Given the description of an element on the screen output the (x, y) to click on. 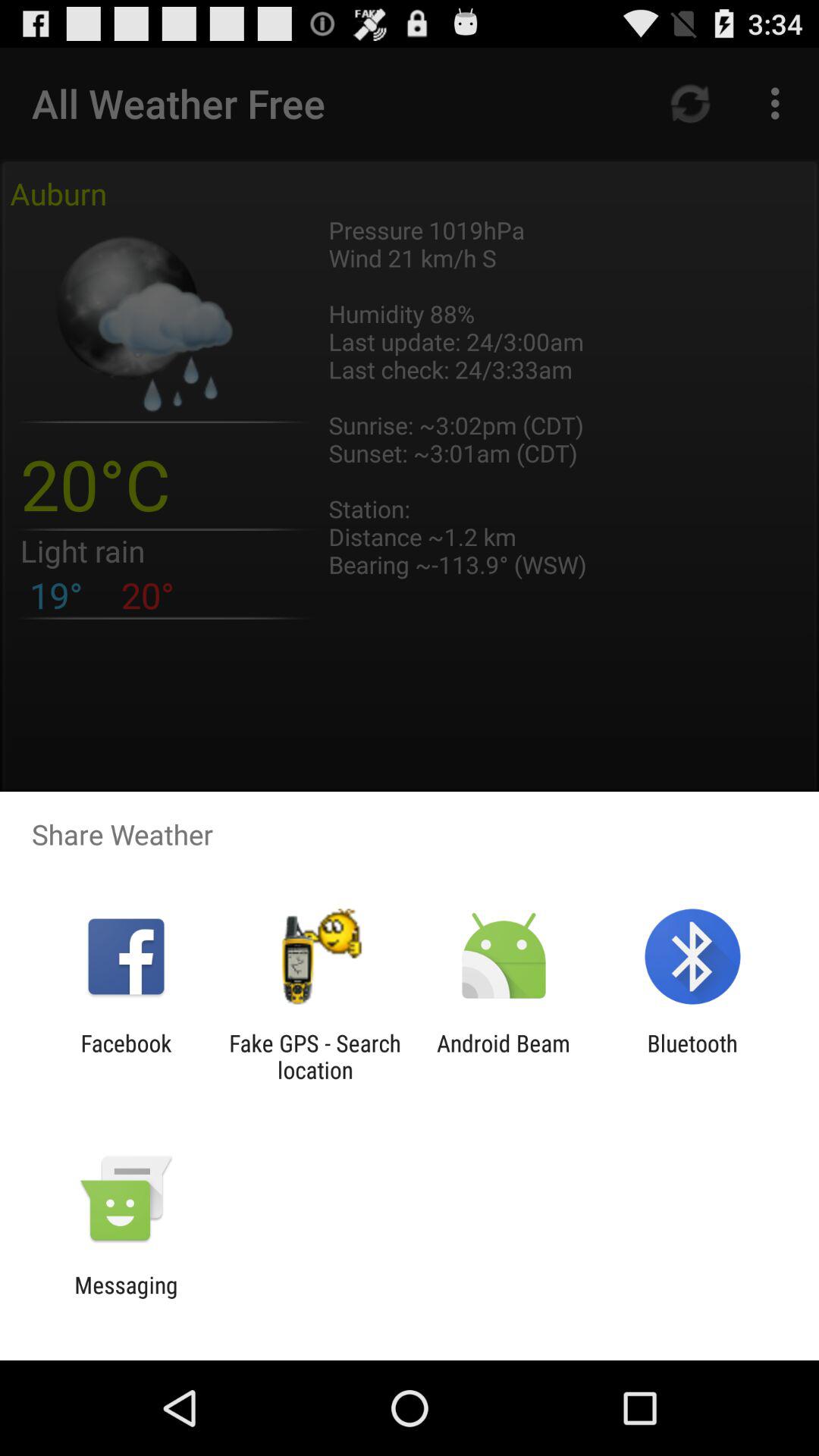
open app to the left of bluetooth icon (503, 1056)
